Given the description of an element on the screen output the (x, y) to click on. 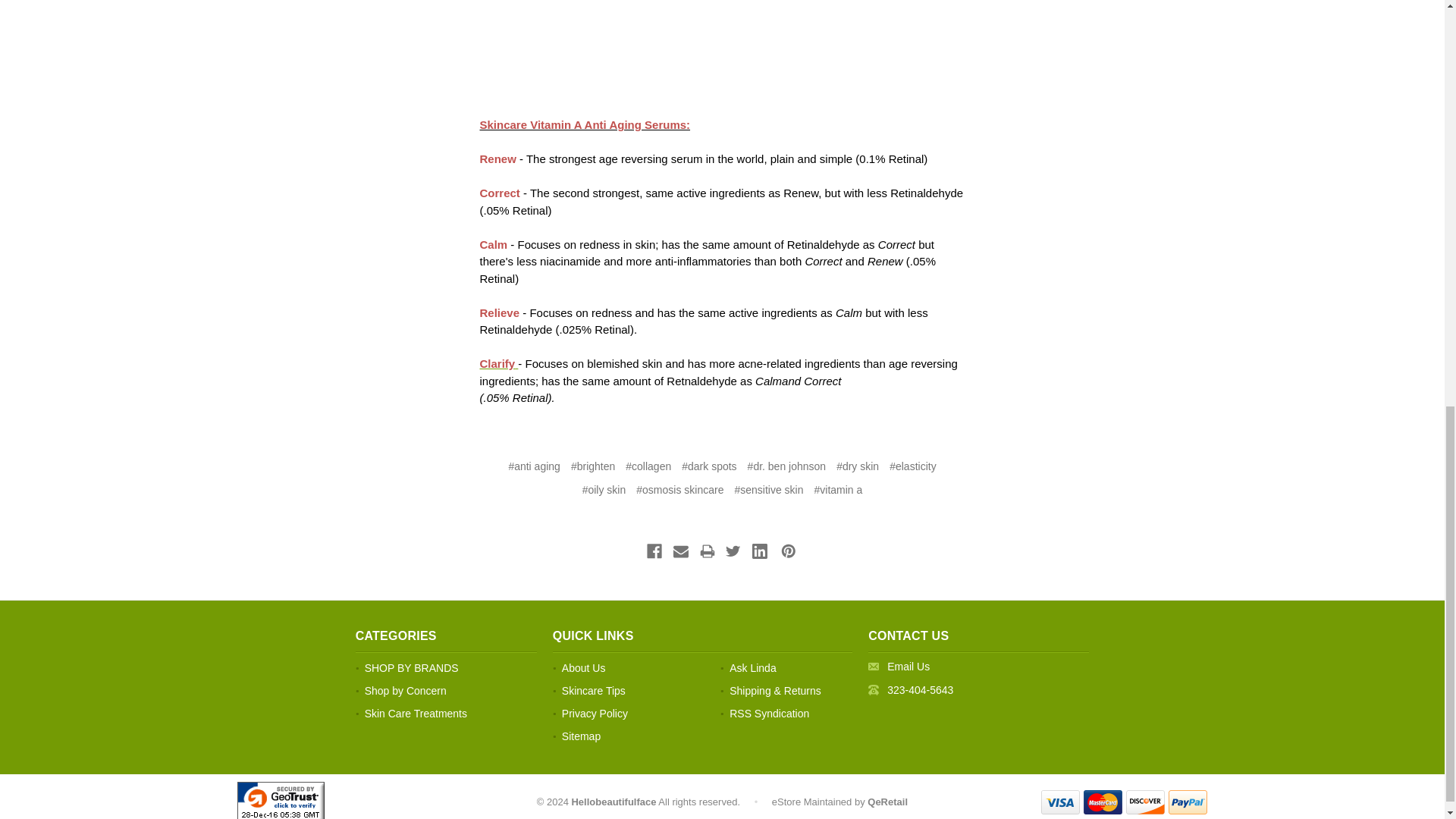
323-404-5643 (919, 689)
Email  (908, 666)
